Given the description of an element on the screen output the (x, y) to click on. 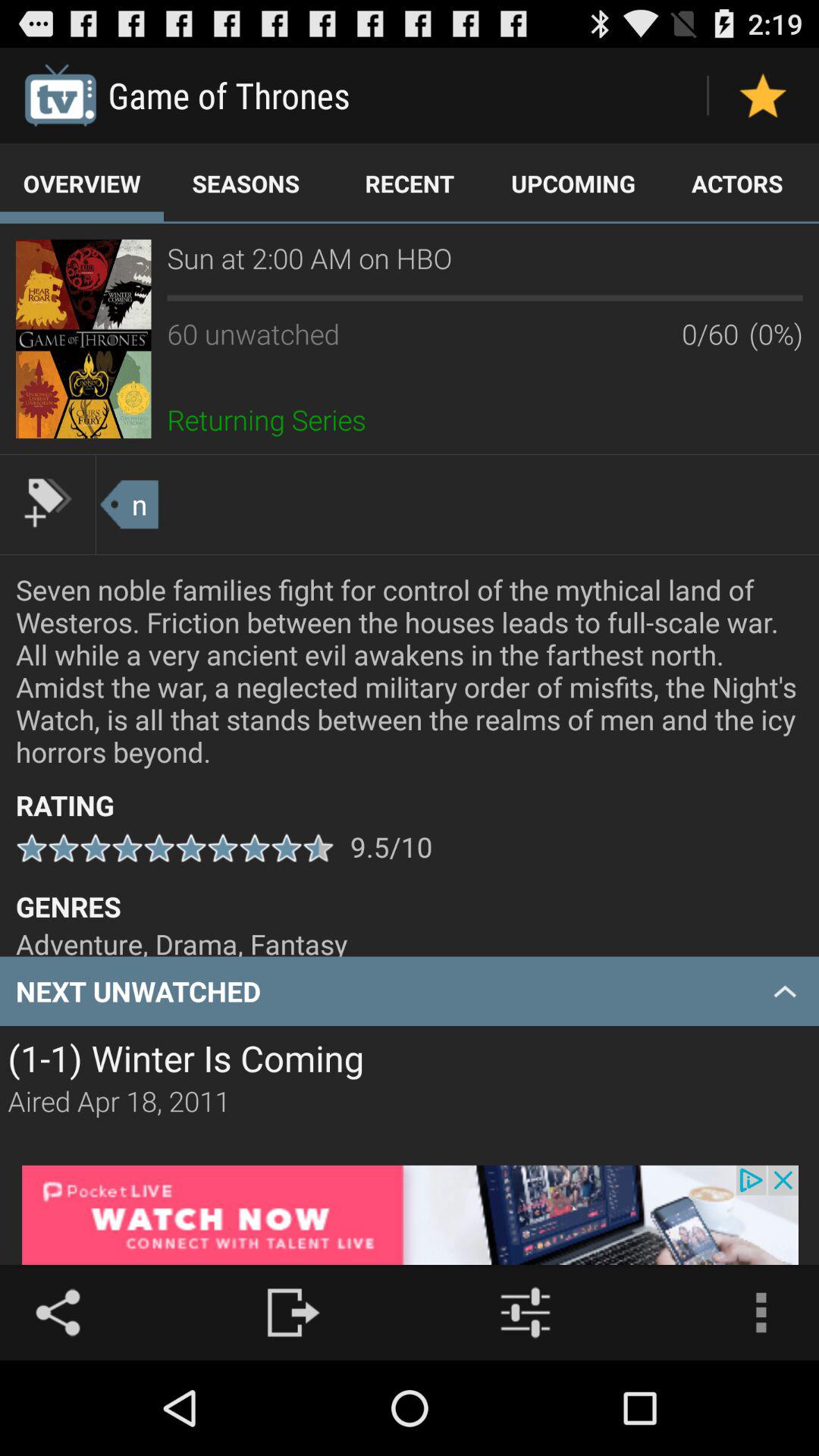
click the video (83, 338)
